Given the description of an element on the screen output the (x, y) to click on. 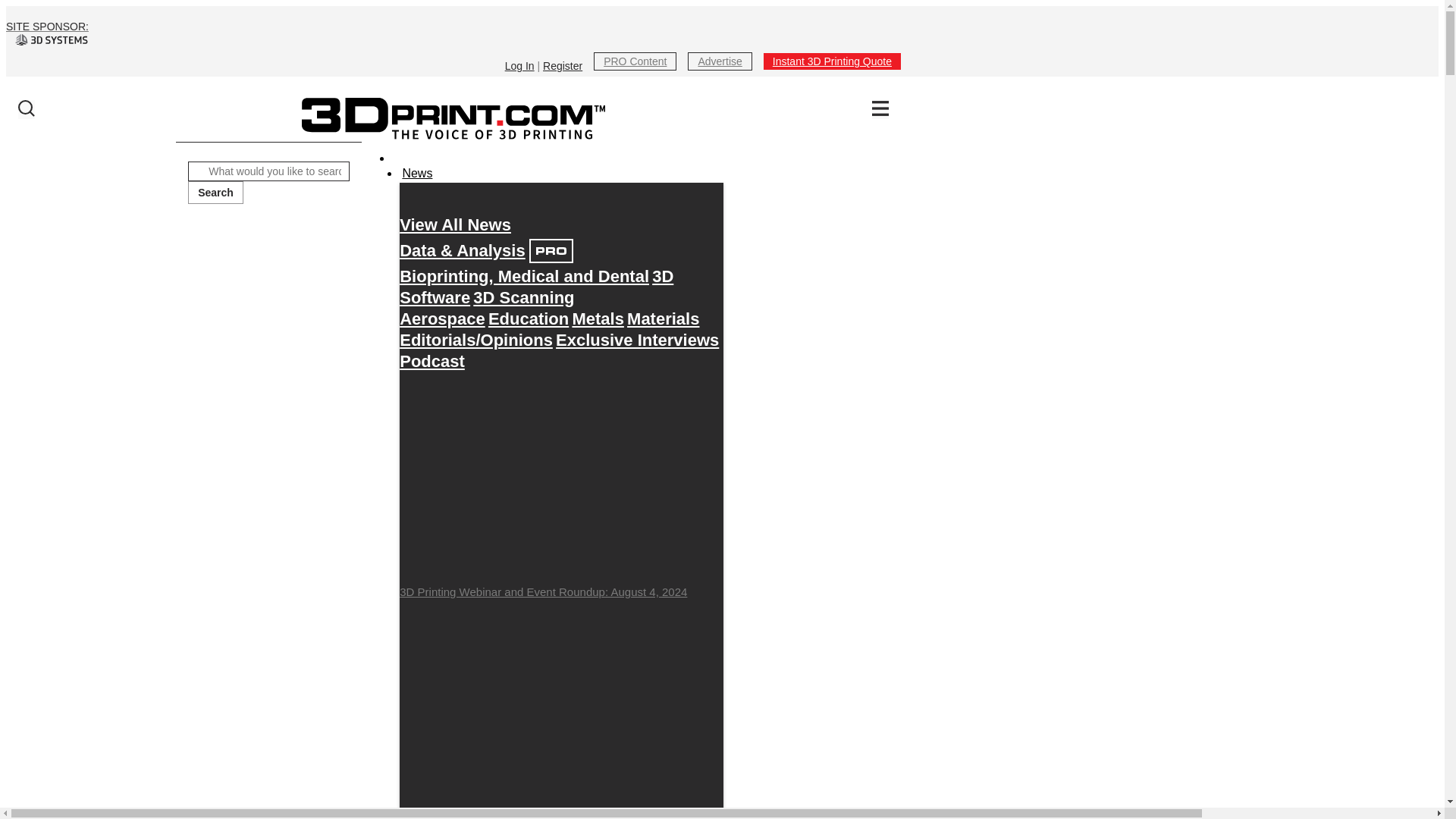
3D Scanning (523, 297)
View All News (454, 224)
Search (215, 191)
Materials (662, 318)
News (415, 173)
Bioprinting, Medical and Dental (523, 276)
Education (528, 318)
SITE SPONSOR: (453, 32)
Exclusive Interviews (637, 339)
Metals (597, 318)
